Given the description of an element on the screen output the (x, y) to click on. 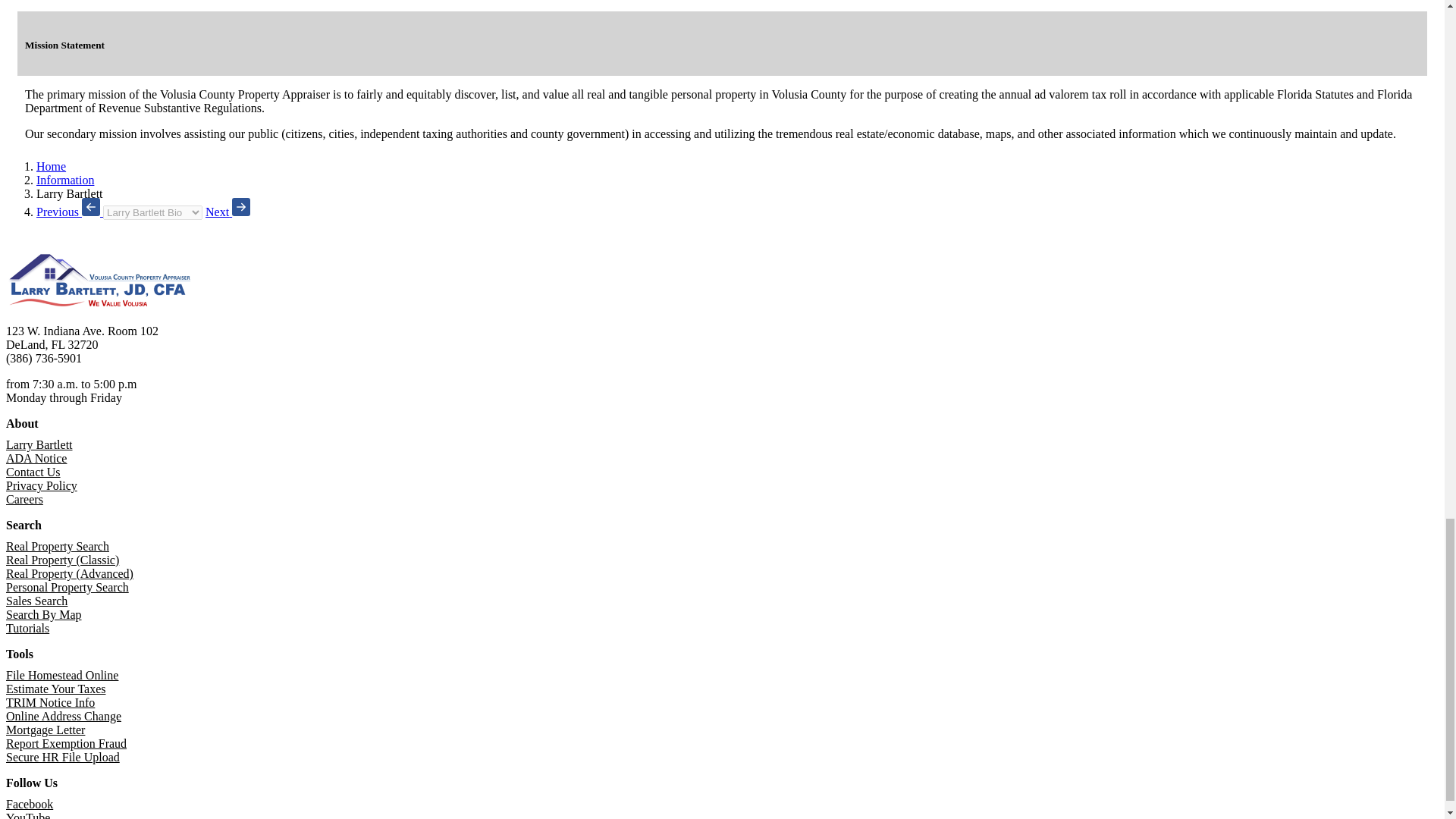
Breadcrumb (152, 212)
Return To Homepage (98, 305)
